Given the description of an element on the screen output the (x, y) to click on. 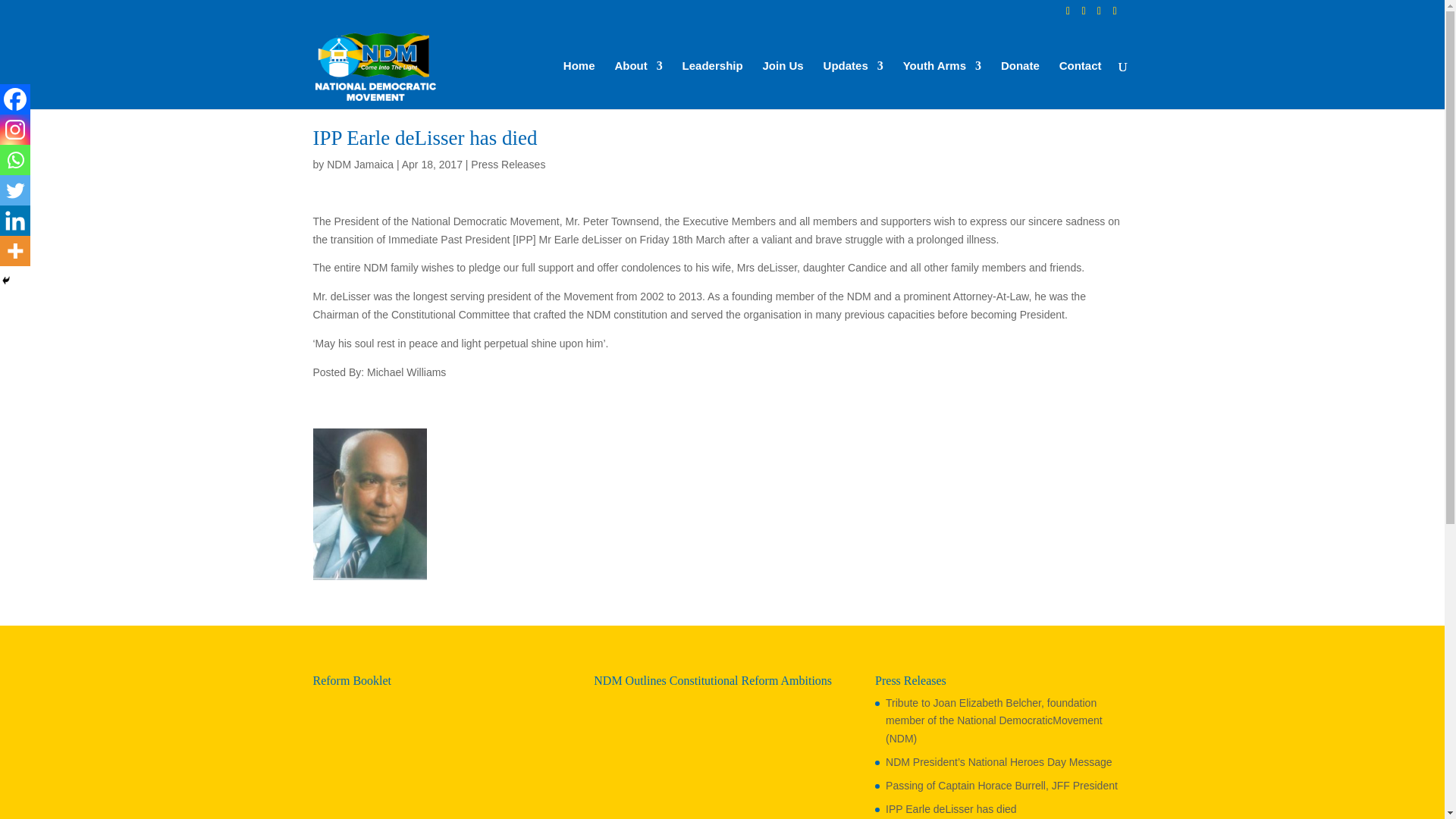
More (15, 250)
Posts by NDM Jamaica (359, 164)
Facebook (15, 99)
Leadership (712, 84)
Instagram (15, 129)
About (638, 84)
Whatsapp (15, 159)
Linkedin (15, 220)
Updates (853, 84)
Youth Arms (941, 84)
Press Releases (507, 164)
NDM Jamaica (359, 164)
Hide (5, 280)
Twitter (15, 190)
